Given the description of an element on the screen output the (x, y) to click on. 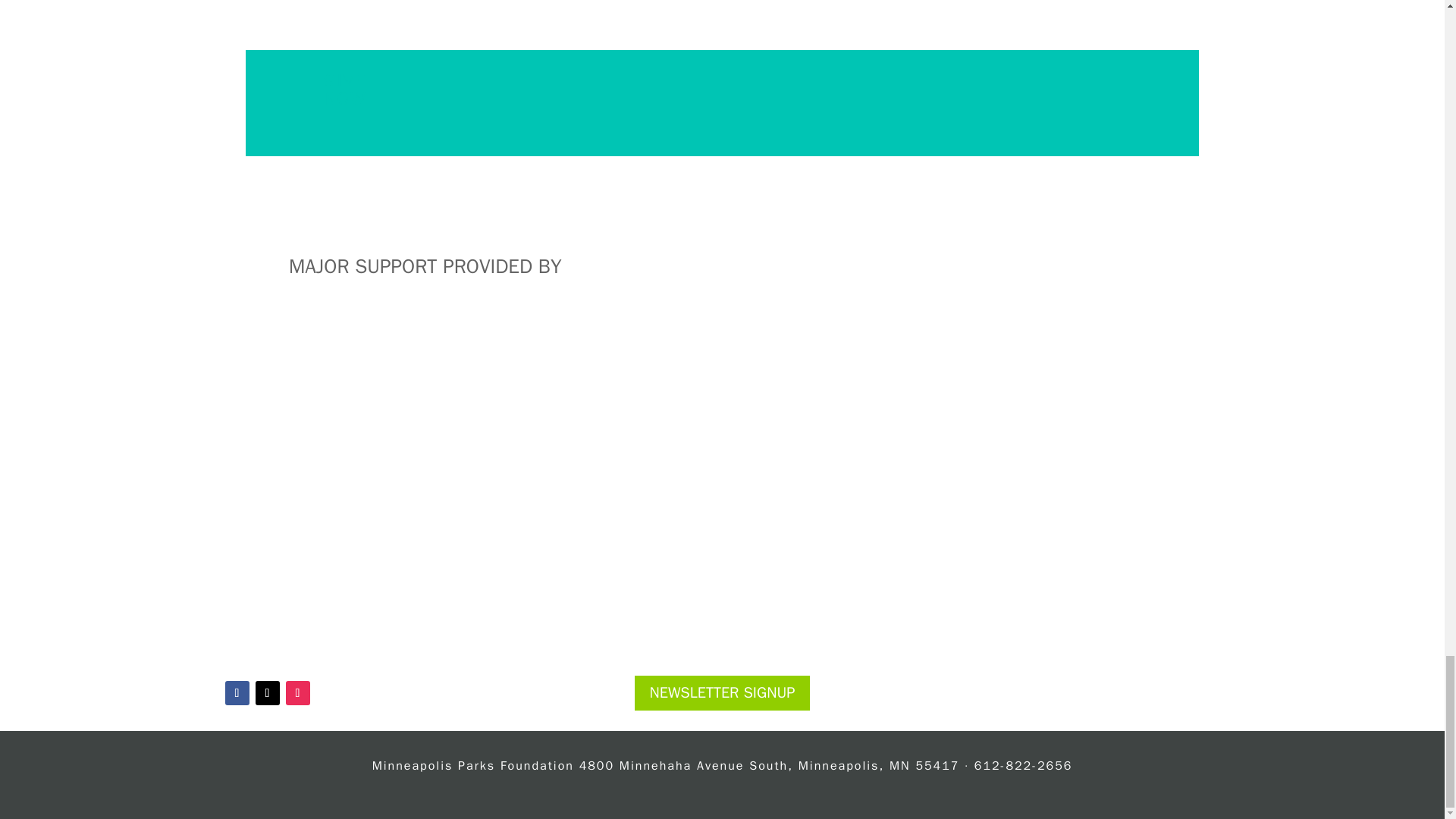
Follow on X (266, 692)
Follow on Instagram (296, 692)
Follow on Facebook (236, 692)
